Given the description of an element on the screen output the (x, y) to click on. 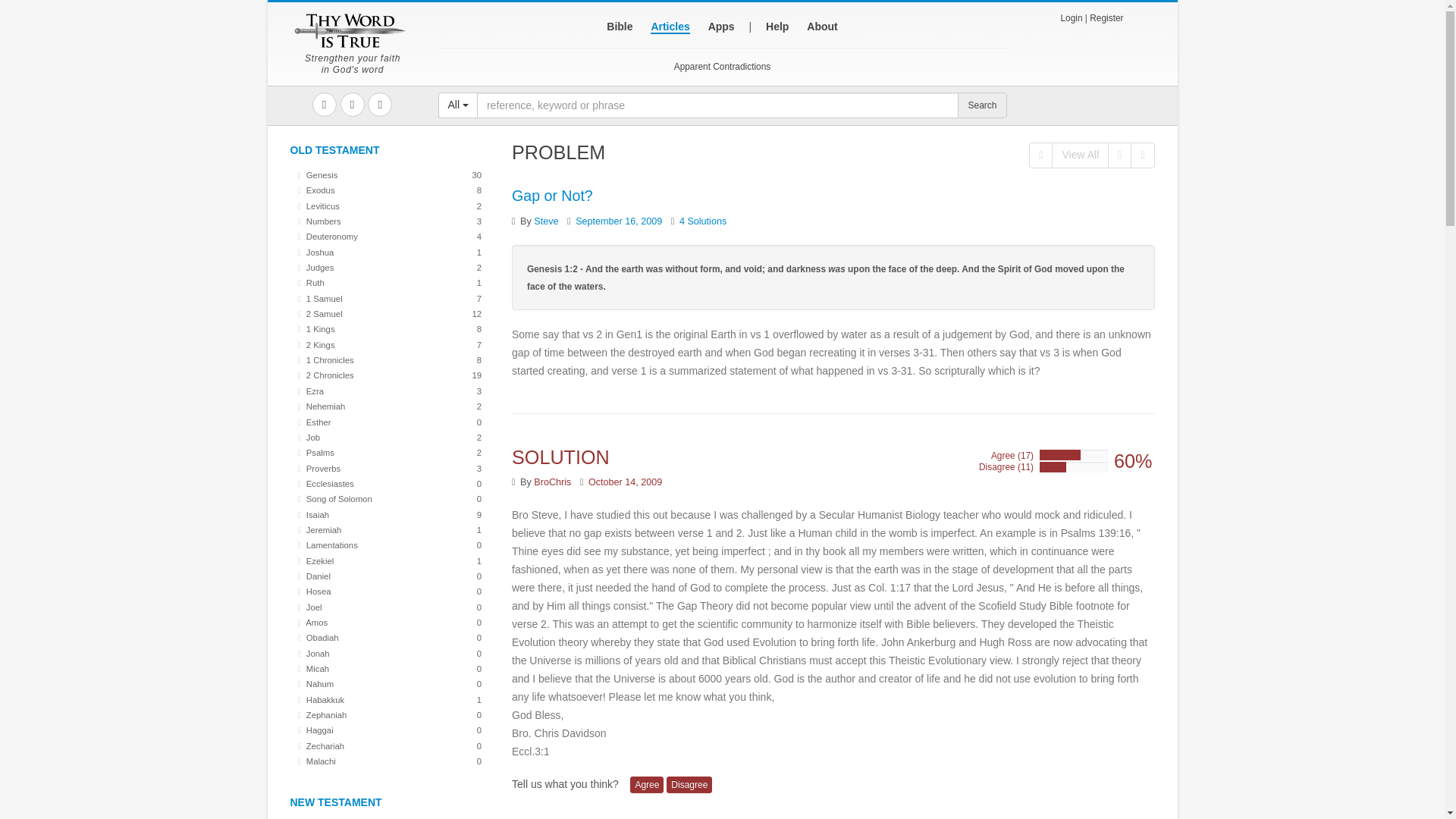
Twitter (352, 104)
Facebook (324, 104)
Bible (389, 252)
Search (389, 328)
Apparent Contradictions (389, 174)
